Given the description of an element on the screen output the (x, y) to click on. 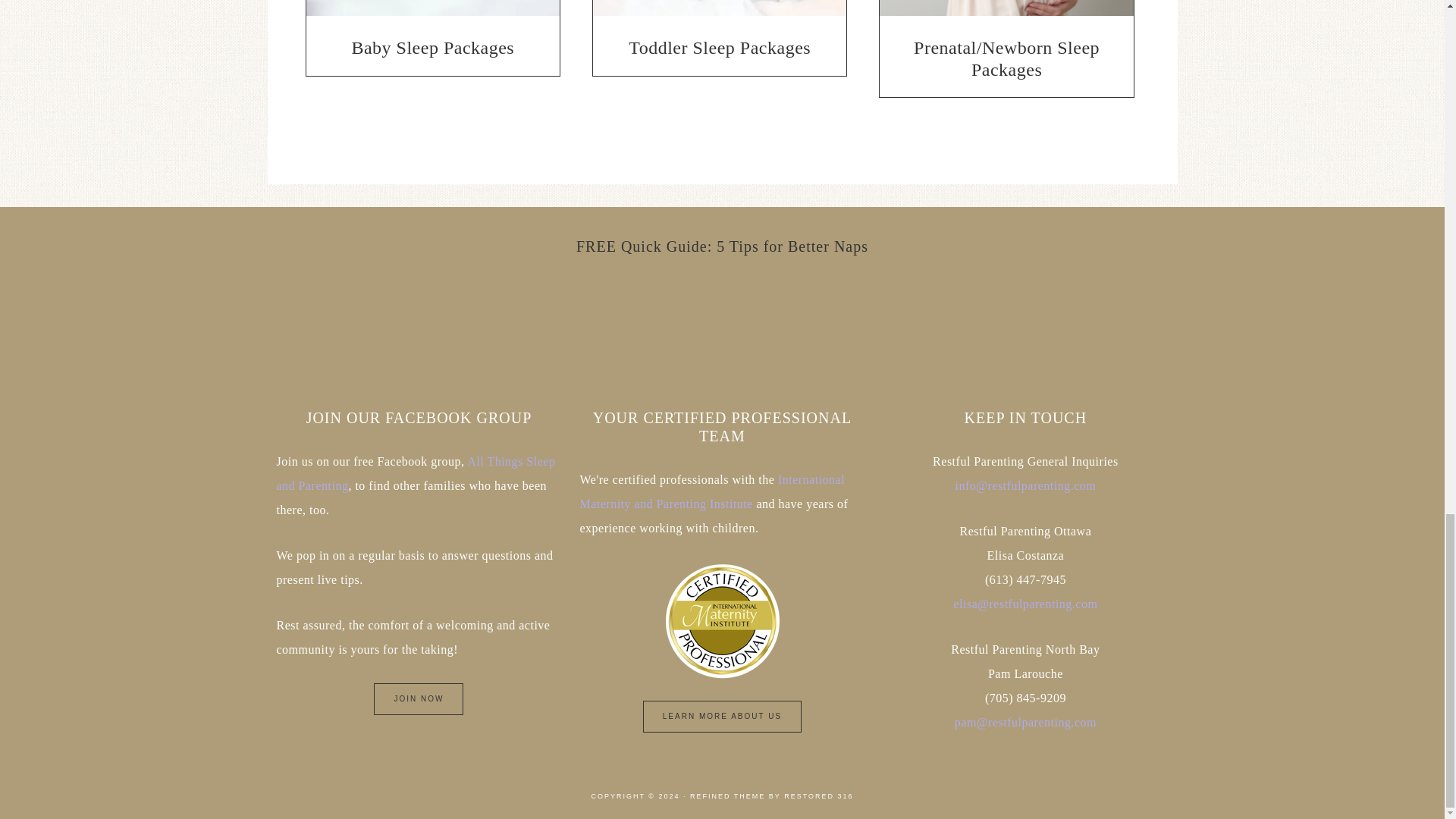
Toddler Sleep Packages (719, 33)
Baby Sleep Packages (432, 33)
LEARN MORE ABOUT US (722, 716)
JOIN NOW (418, 698)
International Maternity and Parenting Institute (711, 491)
All Things Sleep and Parenting (415, 473)
